Given the description of an element on the screen output the (x, y) to click on. 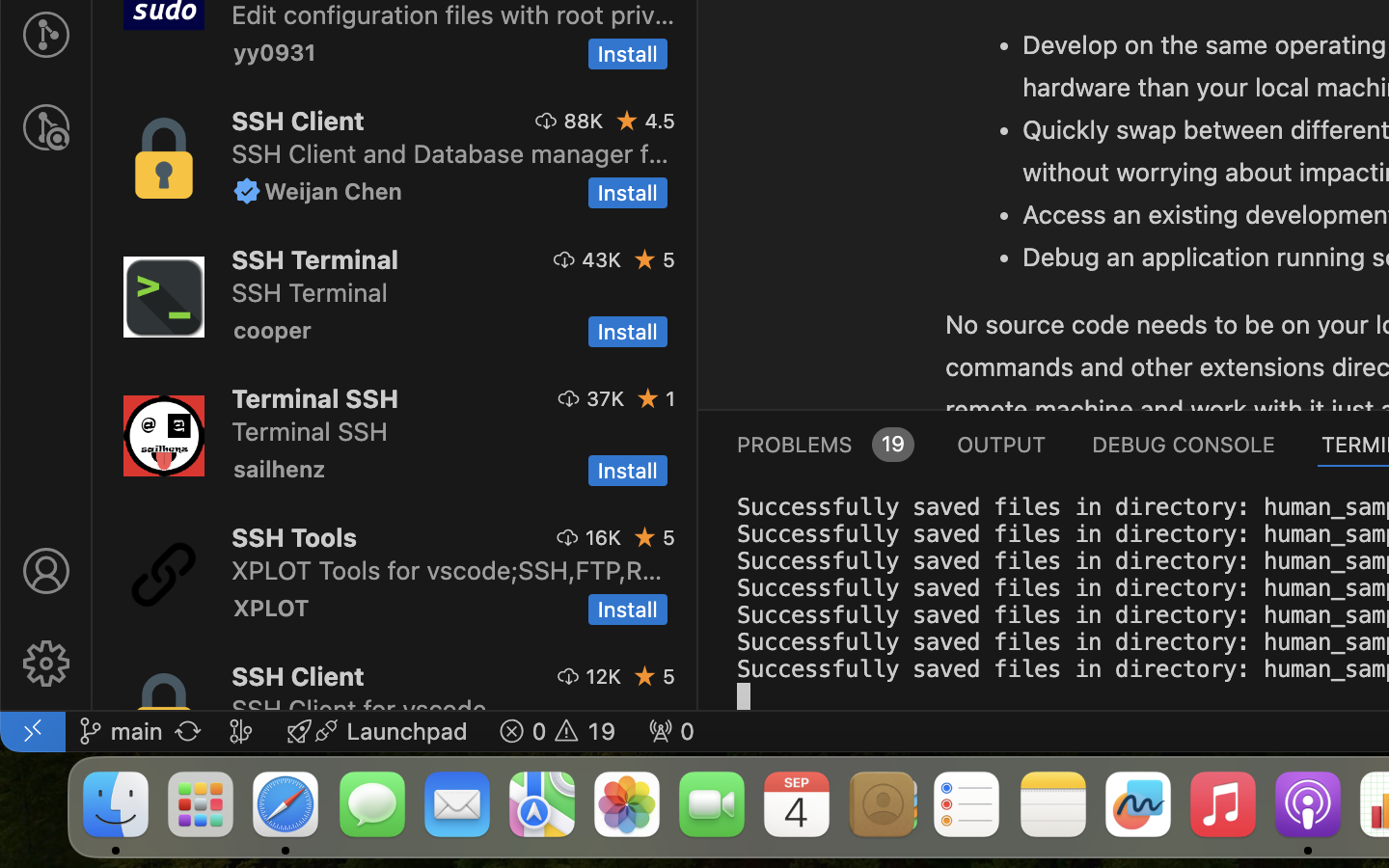
43K Element type: AXStaticText (601, 258)
 Element type: AXStaticText (627, 120)
XPLOT Element type: AXStaticText (271, 607)
sailhenz Element type: AXStaticText (279, 468)
 Element type: AXStaticText (246, 190)
